Given the description of an element on the screen output the (x, y) to click on. 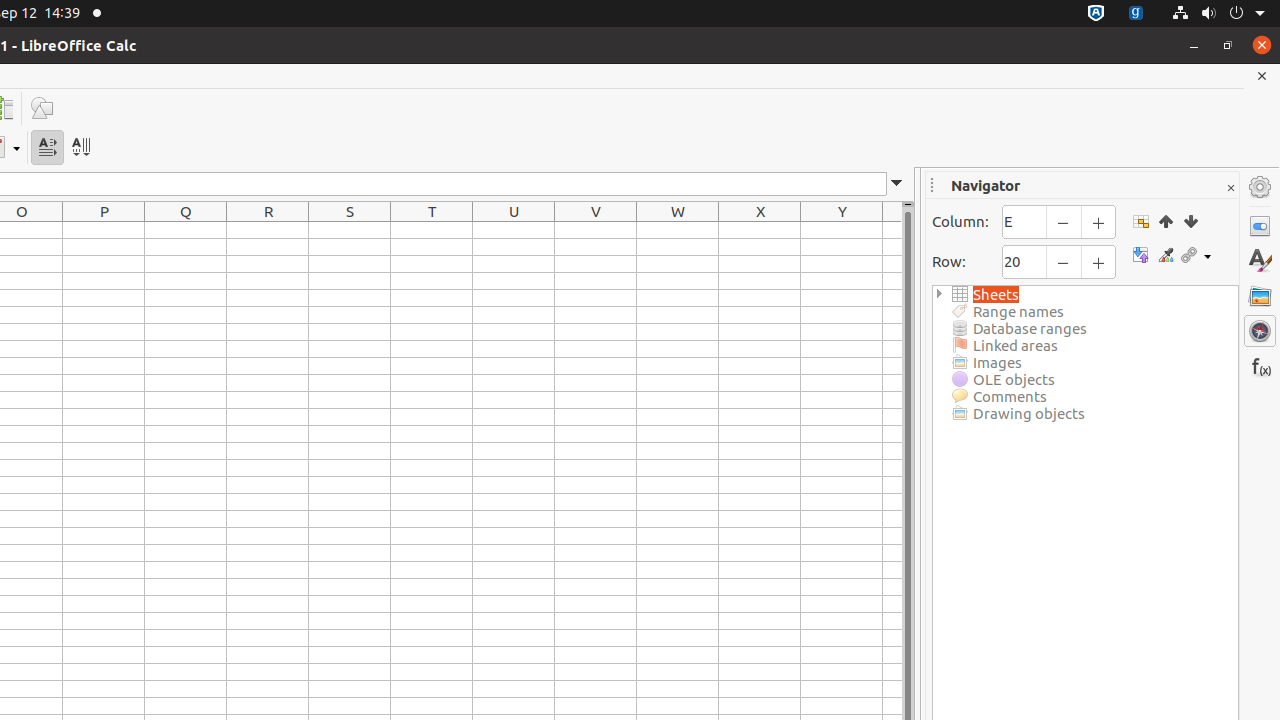
End Element type: push-button (1190, 221)
Text direction from top to bottom Element type: toggle-button (80, 147)
S1 Element type: table-cell (350, 230)
Draw Functions Element type: toggle-button (41, 108)
W1 Element type: table-cell (678, 230)
